Given the description of an element on the screen output the (x, y) to click on. 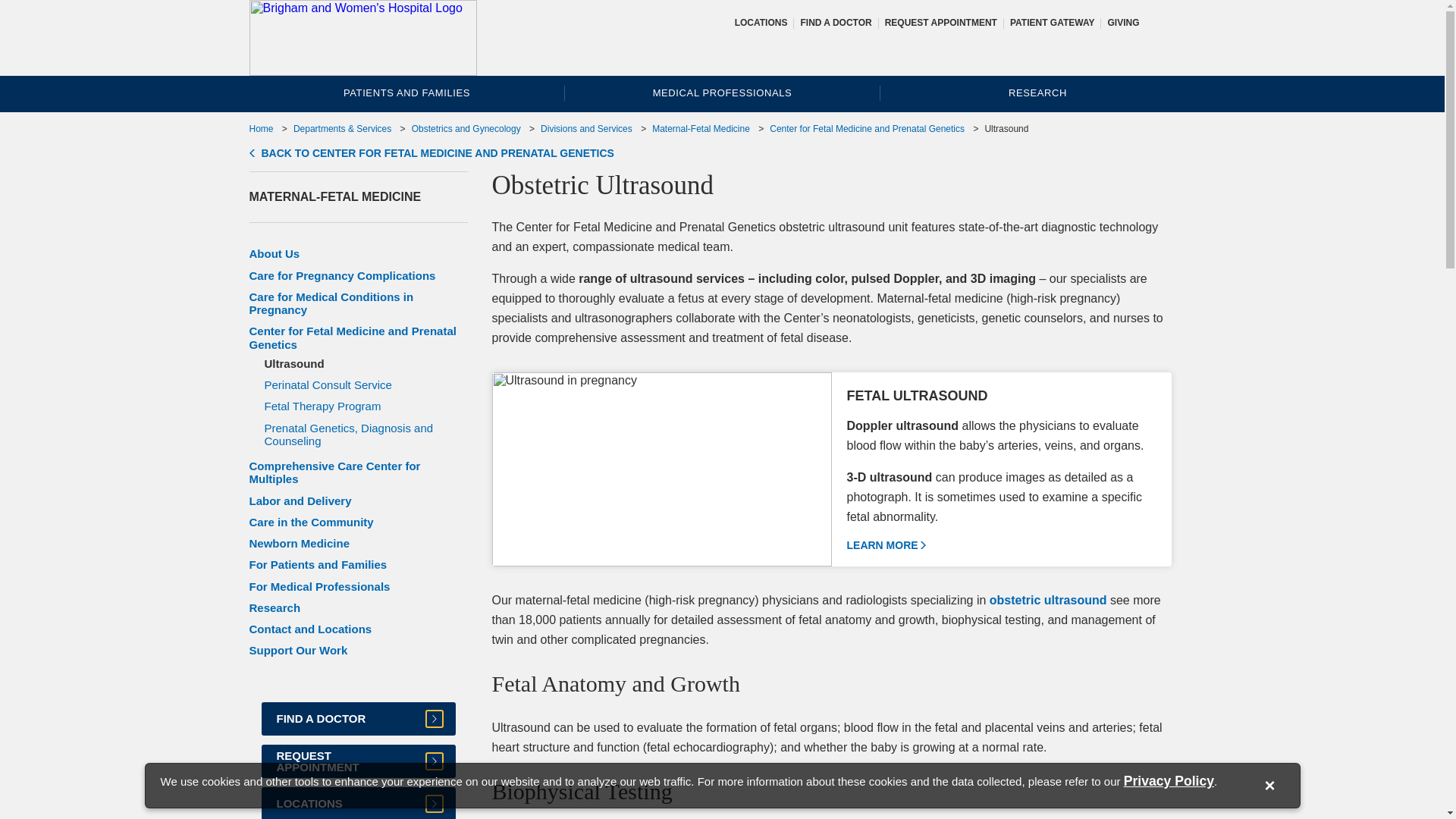
BACK TO CENTER FOR FETAL MEDICINE AND PRENATAL GENETICS (430, 152)
RESEARCH (1037, 93)
PATIENT GATEWAY (1052, 22)
Information for Medical Professionals (721, 93)
FIND A DOCTOR (834, 22)
Information for Patients and Families (406, 93)
Care for Pregnancy Complications (341, 275)
Obstetrics and Gynecology (466, 128)
GIVING (1122, 22)
PATIENTS AND FAMILIES (406, 93)
